Given the description of an element on the screen output the (x, y) to click on. 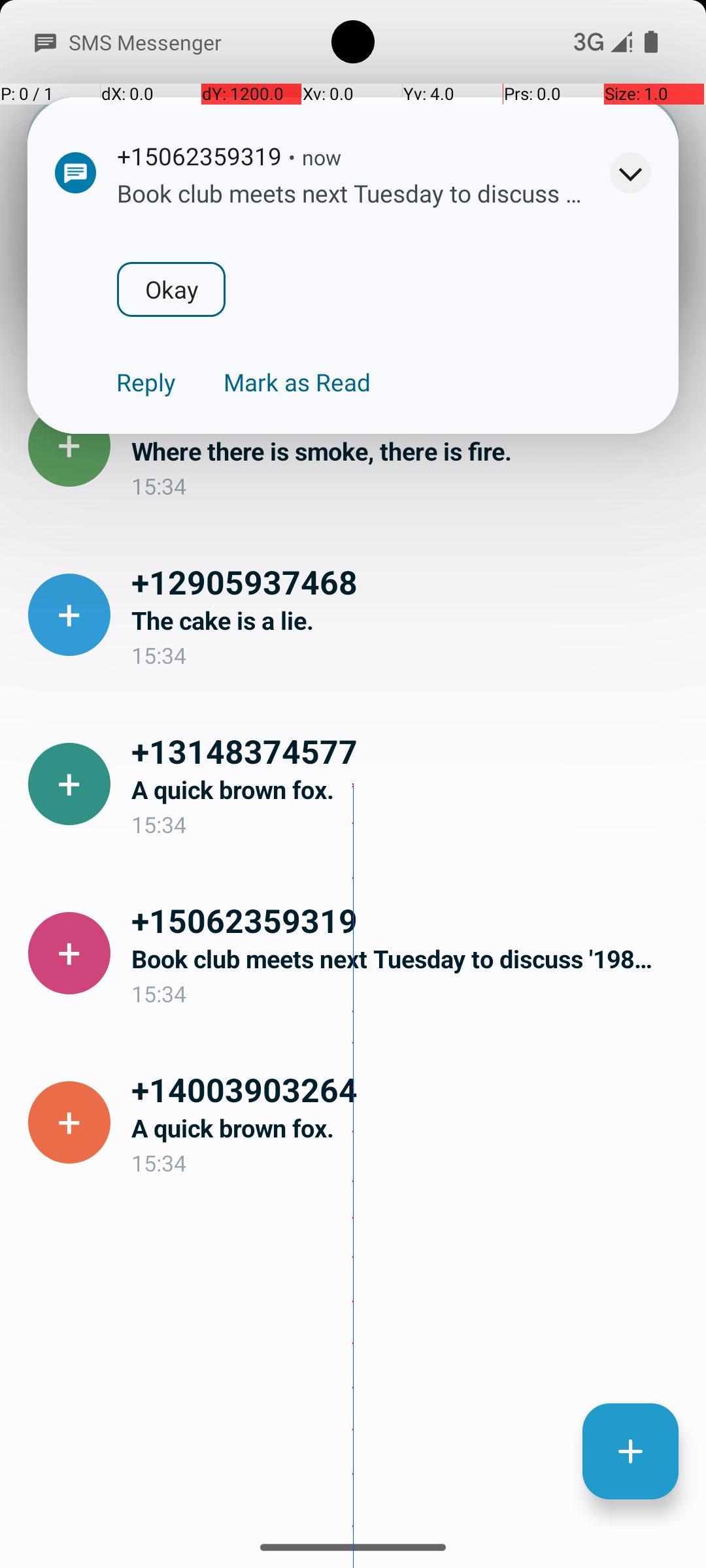
+12432128160 Element type: android.widget.TextView (408, 242)
Lunch meeting with Sarah at 1 PM Cafe L'amour. Element type: android.widget.TextView (408, 281)
+17630288053 Element type: android.widget.TextView (408, 412)
Where there is smoke, there is fire. Element type: android.widget.TextView (408, 450)
+12905937468 Element type: android.widget.TextView (408, 581)
The cake is a lie. Element type: android.widget.TextView (408, 620)
+13148374577 Element type: android.widget.TextView (408, 750)
A quick brown fox. Element type: android.widget.TextView (408, 789)
+15062359319 Element type: android.widget.TextView (408, 919)
+14003903264 Element type: android.widget.TextView (408, 1088)
Okay Element type: android.widget.Button (171, 289)
Reply Element type: android.widget.Button (146, 382)
Mark as Read Element type: android.widget.Button (296, 382)
